Given the description of an element on the screen output the (x, y) to click on. 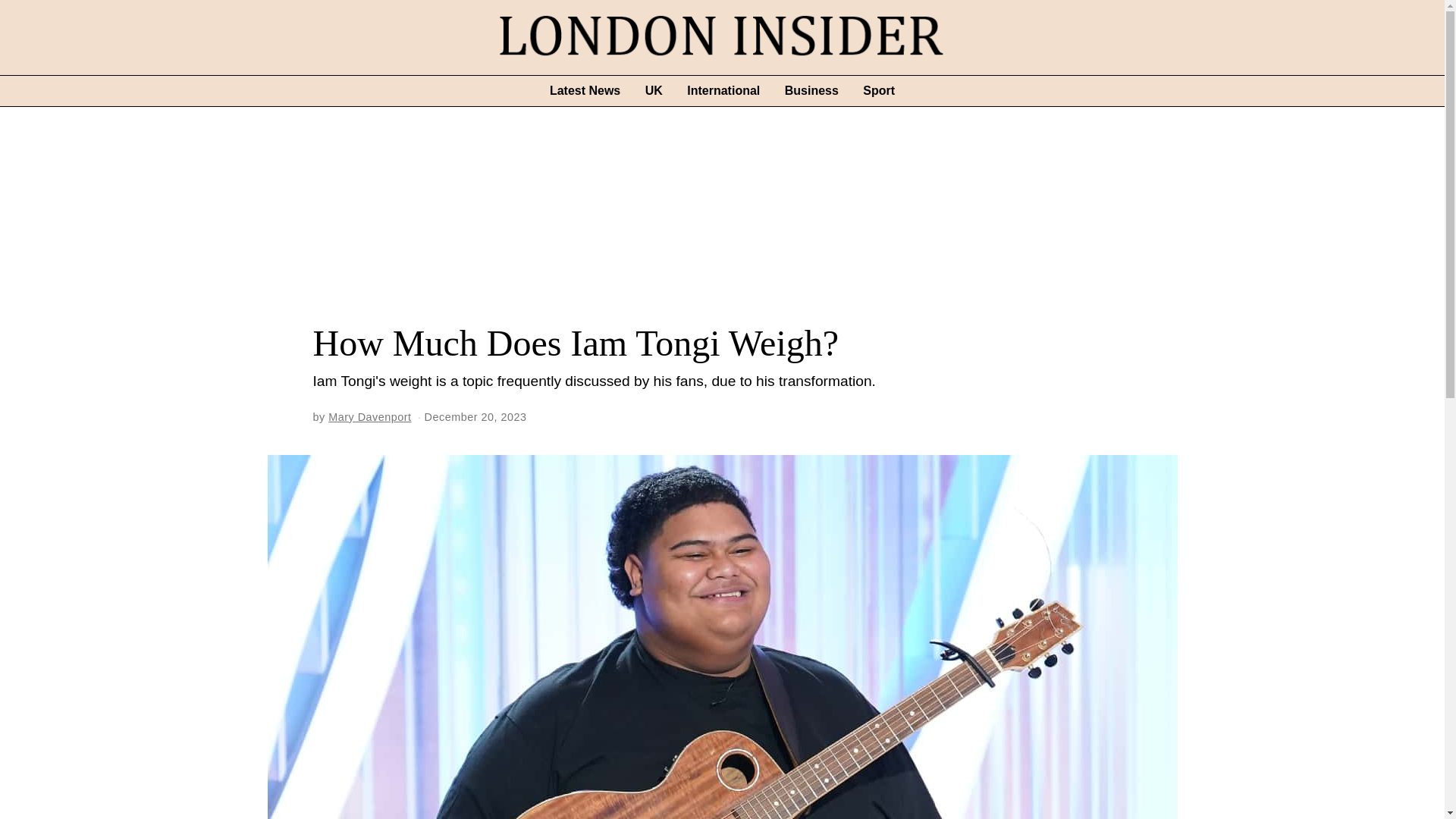
Sport (878, 91)
Business (811, 91)
International (723, 91)
UK (653, 91)
Mary Davenport (369, 417)
Latest News (584, 91)
